Given the description of an element on the screen output the (x, y) to click on. 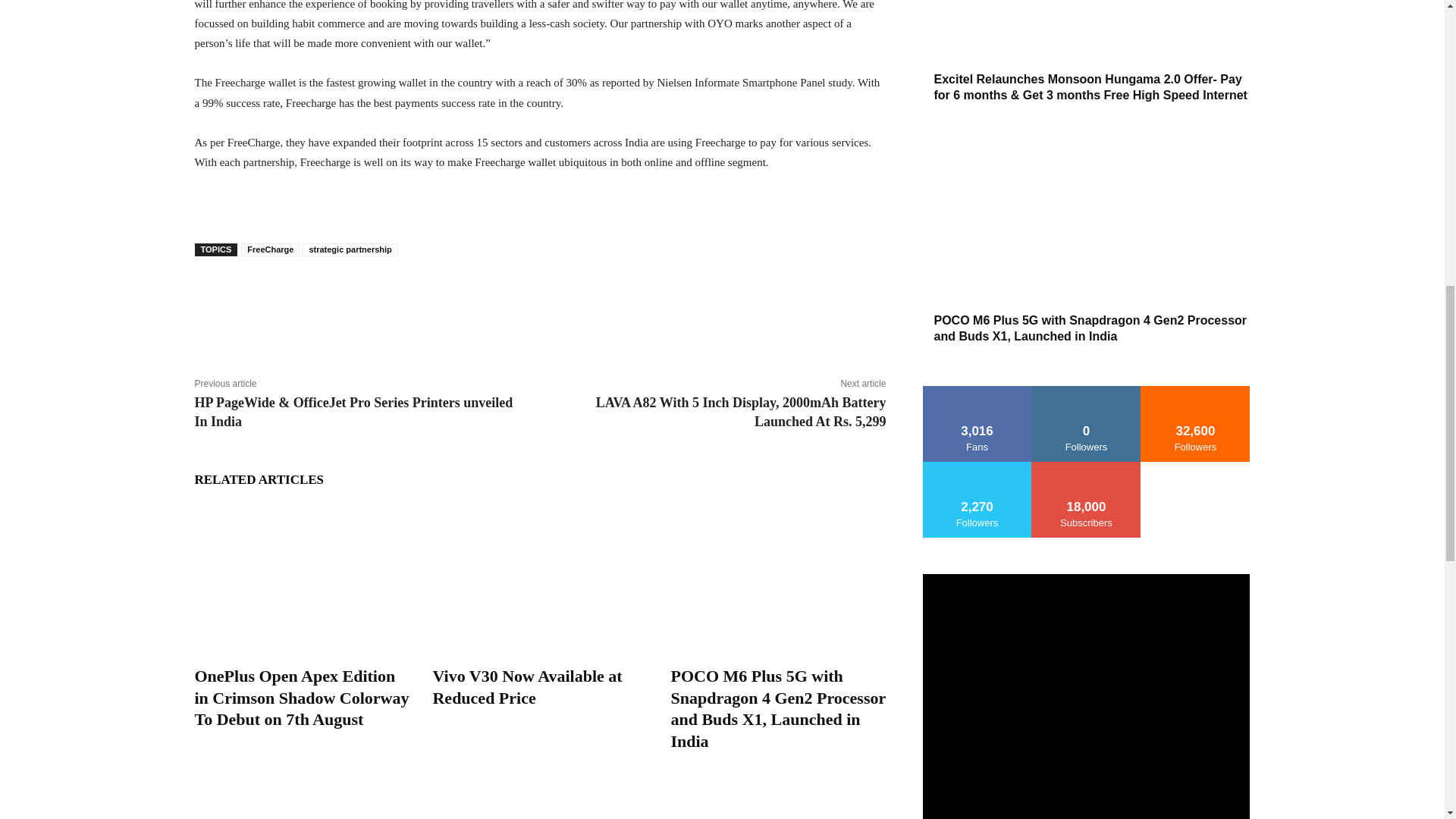
FreeCharge (270, 249)
strategic partnership (349, 249)
